Given the description of an element on the screen output the (x, y) to click on. 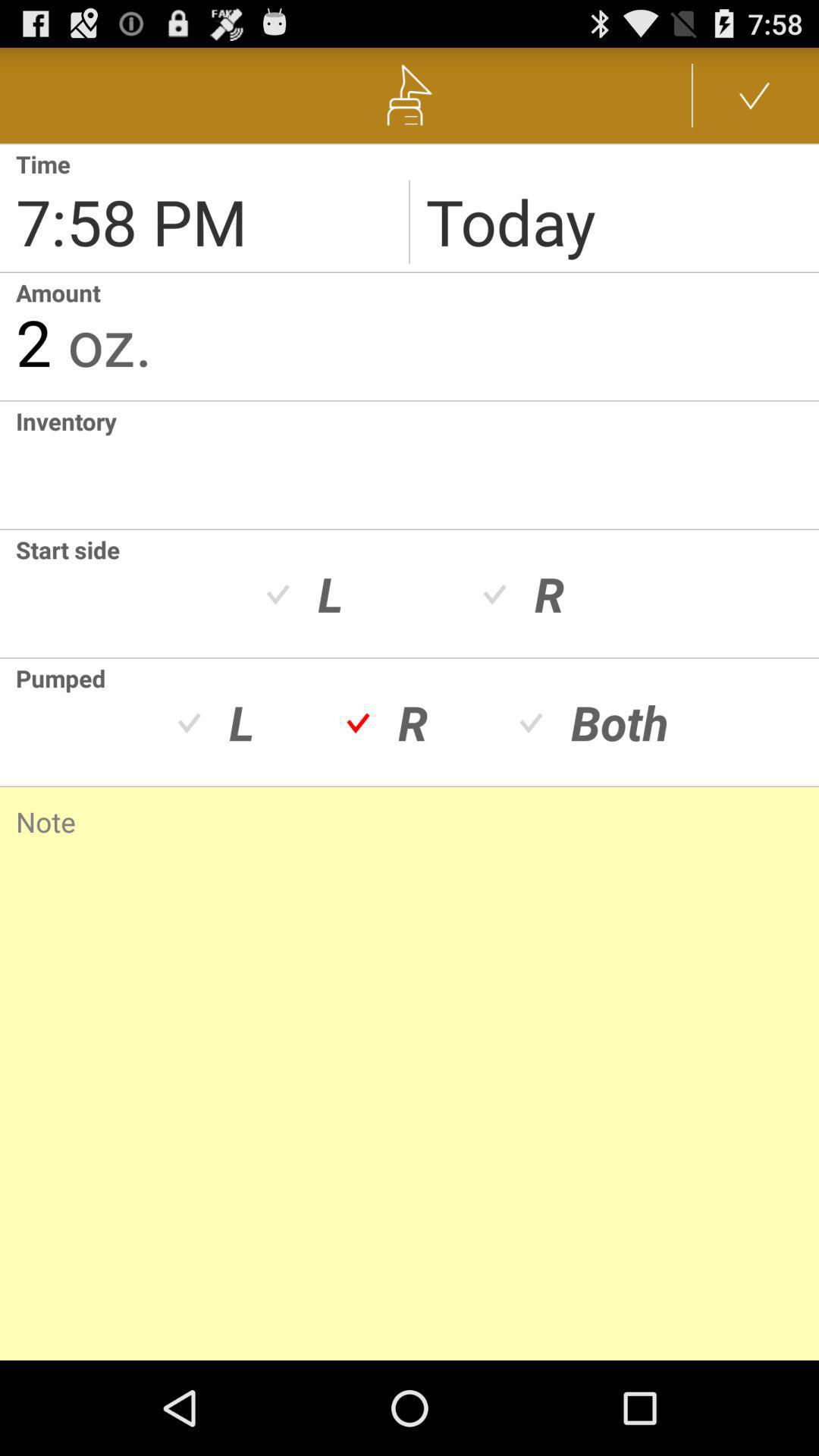
log breast milk inventory (7, 464)
